Given the description of an element on the screen output the (x, y) to click on. 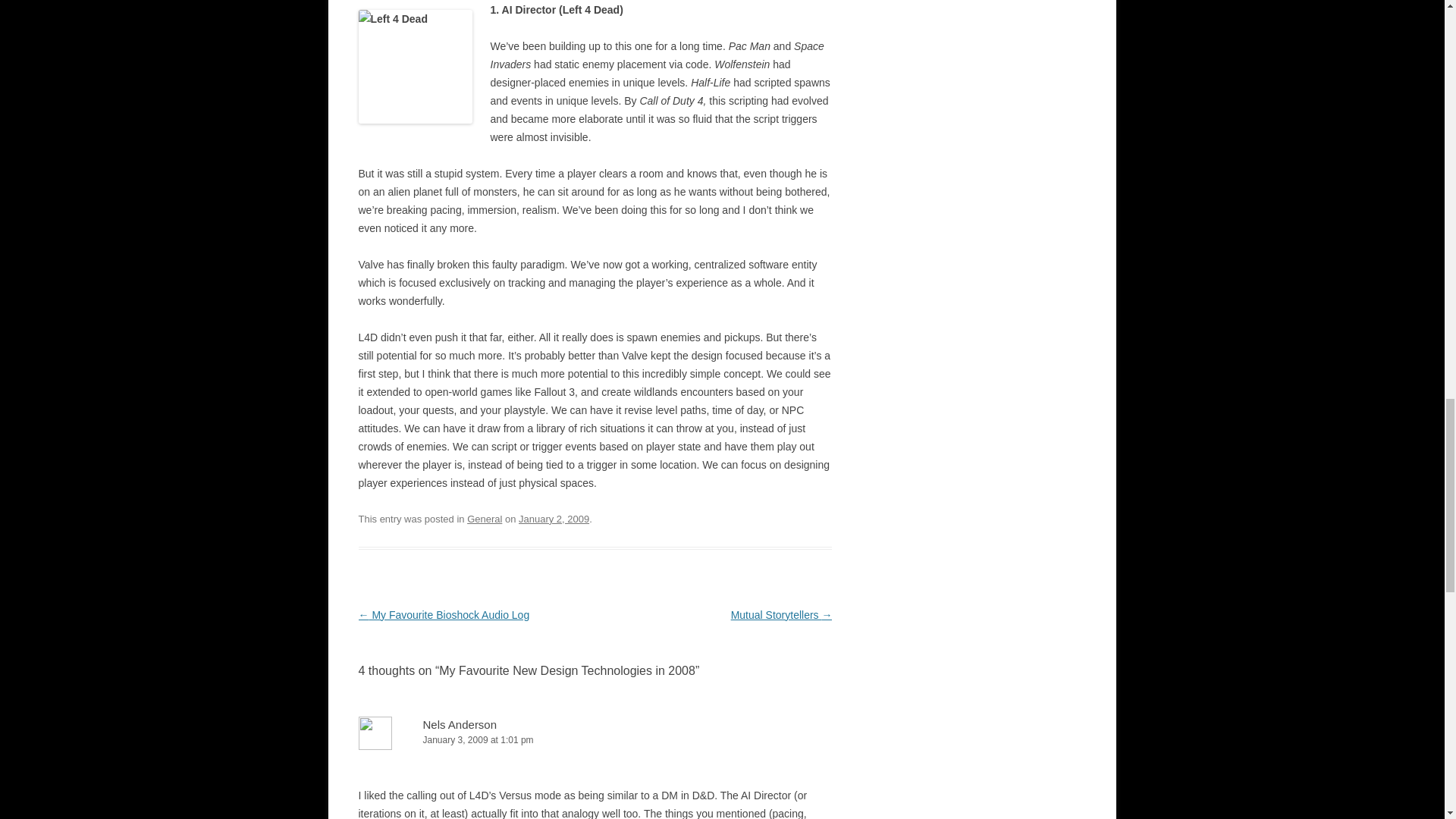
January 2, 2009 (553, 518)
Left 4 Dead (414, 66)
General (484, 518)
8:01 pm (553, 518)
Nels Anderson (460, 724)
January 3, 2009 at 1:01 pm (594, 740)
